Given the description of an element on the screen output the (x, y) to click on. 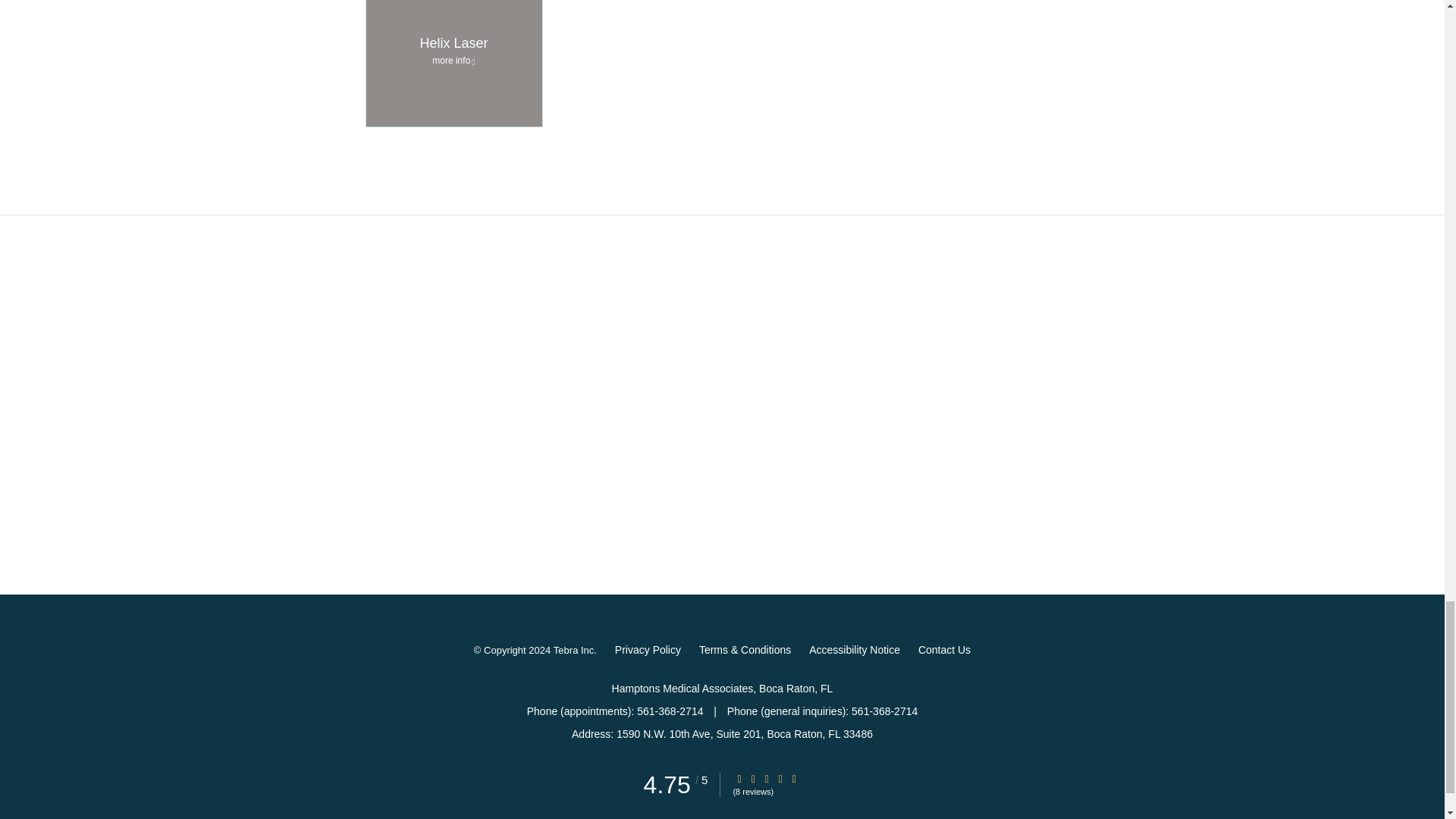
Star Rating (753, 778)
Star Rating (766, 778)
Star Rating (780, 778)
Star Rating (738, 778)
Star Rating (794, 778)
